Given the description of an element on the screen output the (x, y) to click on. 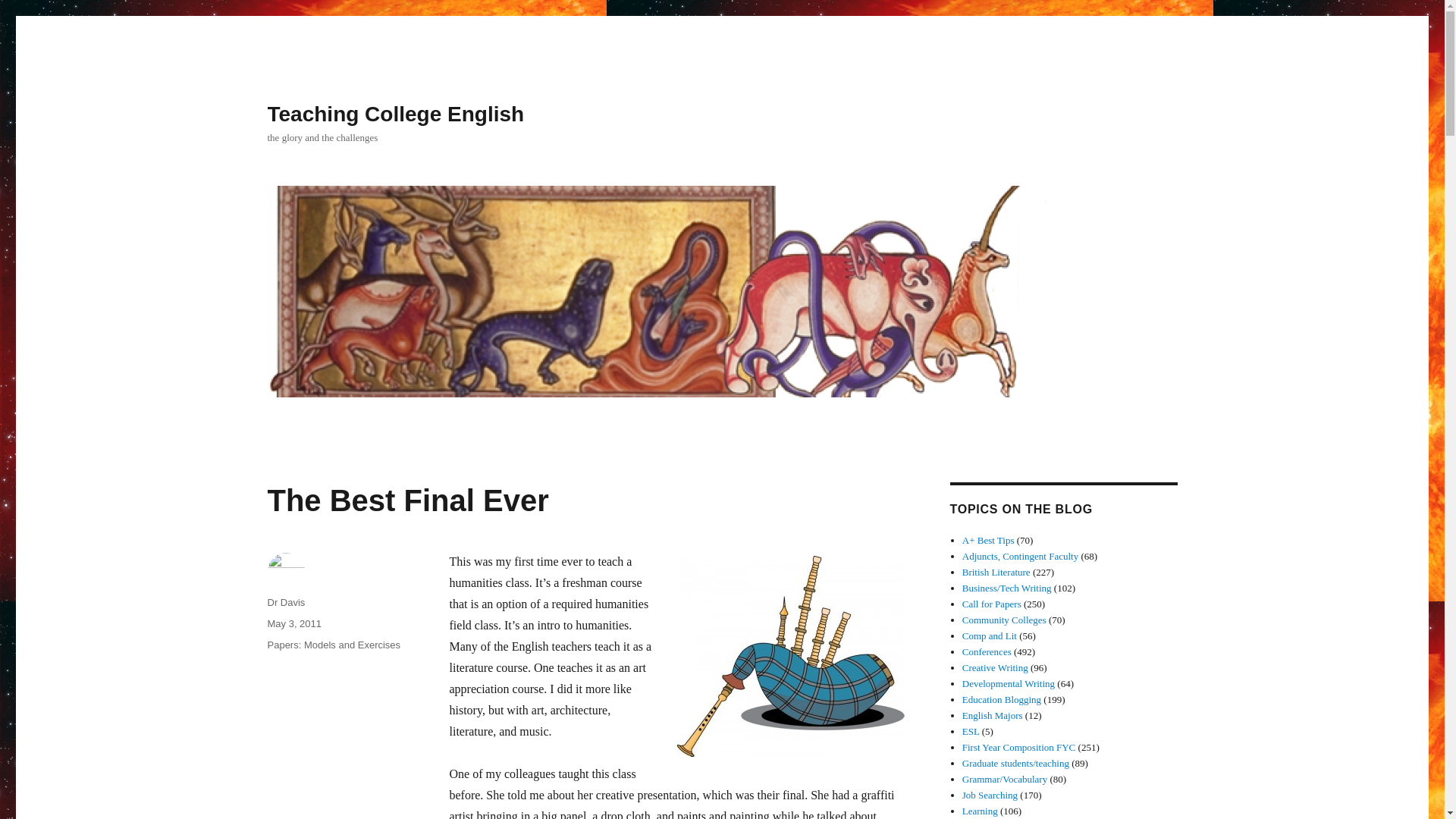
Adjuncts, Contingent Faculty (1020, 555)
ESL (970, 731)
Papers: Models and Exercises (333, 644)
Call for Papers (992, 603)
British Literature (996, 572)
Job Searching (989, 794)
Dr Davis (285, 602)
Education Blogging (1001, 699)
Comp and Lit (989, 635)
Community Colleges (1004, 619)
